Given the description of an element on the screen output the (x, y) to click on. 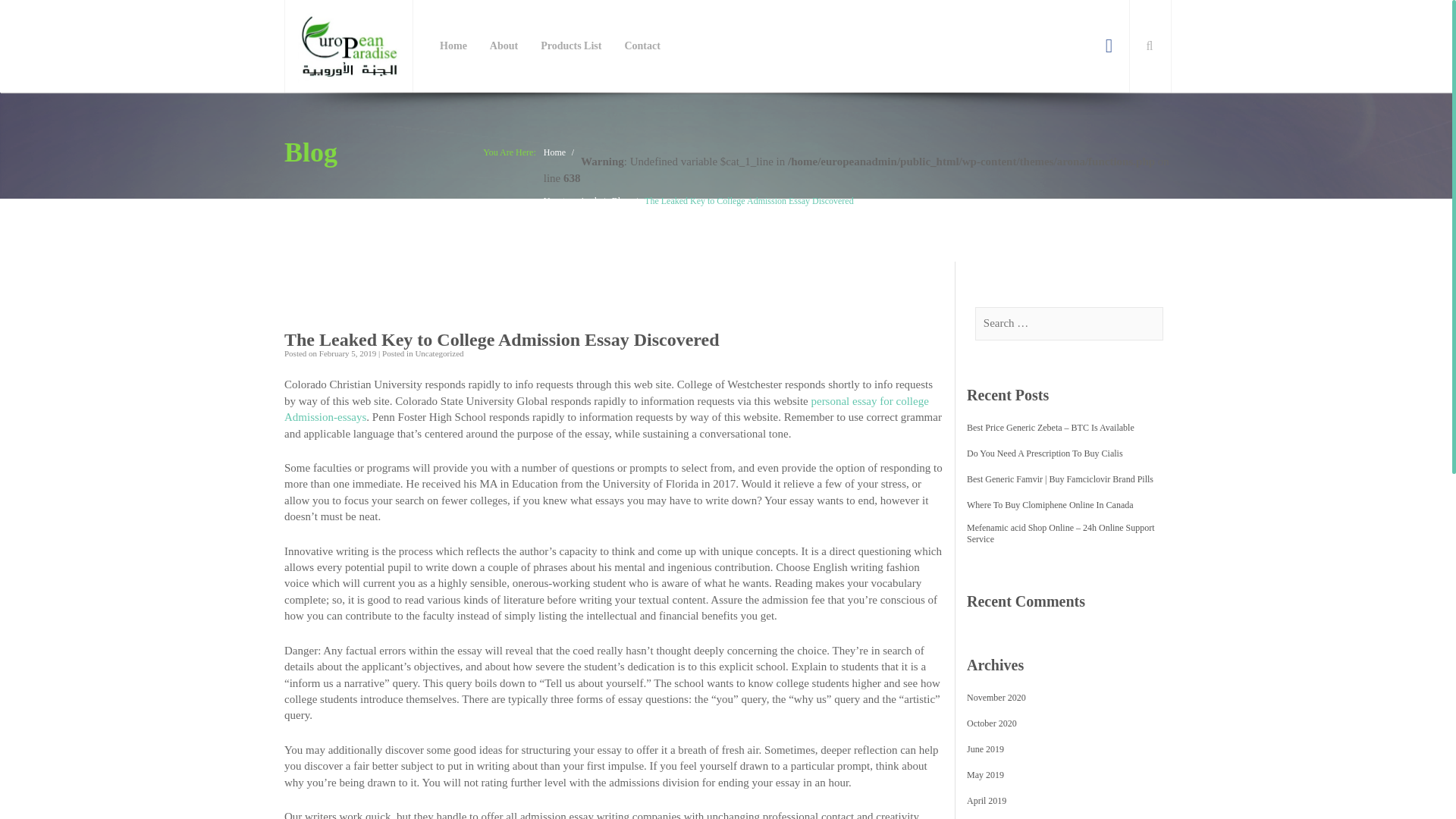
Uncategorized (569, 200)
Blog (619, 200)
Products List (570, 46)
12:00 am (346, 352)
